Given the description of an element on the screen output the (x, y) to click on. 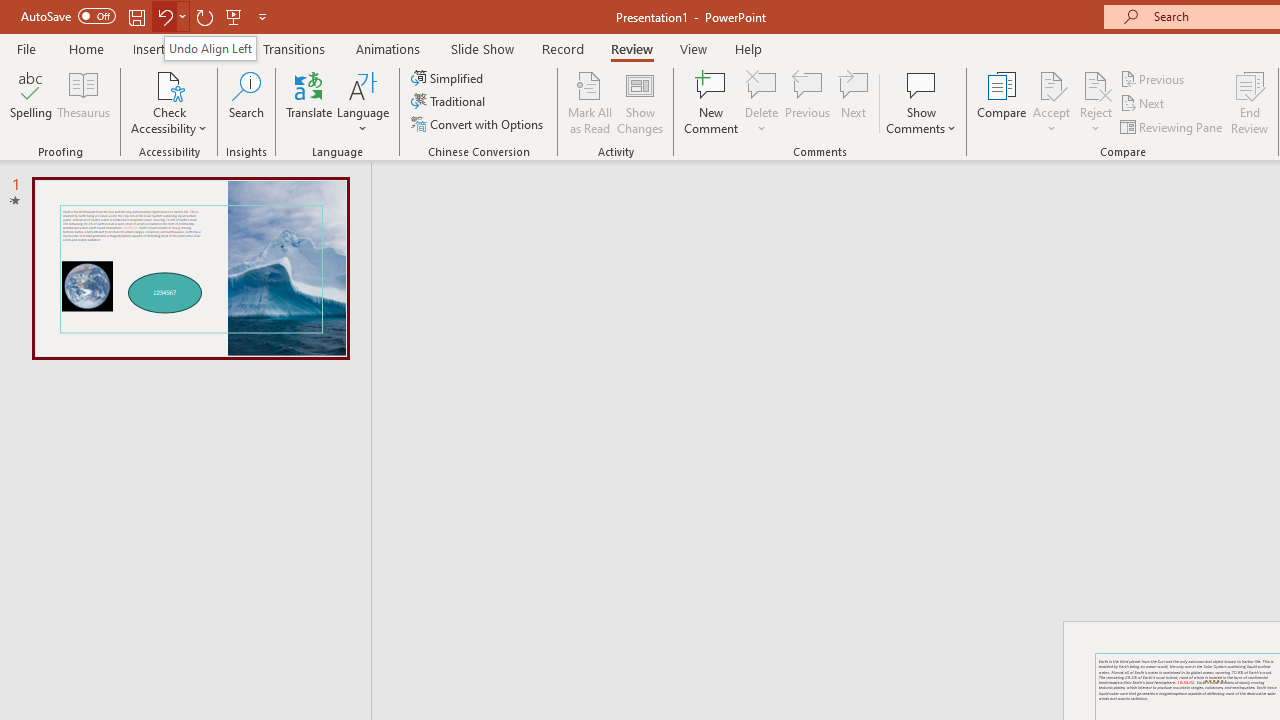
Reject (1096, 102)
Mark All as Read (589, 102)
Previous (1153, 78)
Show Comments (921, 102)
Undo Align Left (210, 48)
Search (246, 102)
Reviewing Pane (1172, 126)
Check Accessibility (169, 84)
Compare (1002, 102)
